Given the description of an element on the screen output the (x, y) to click on. 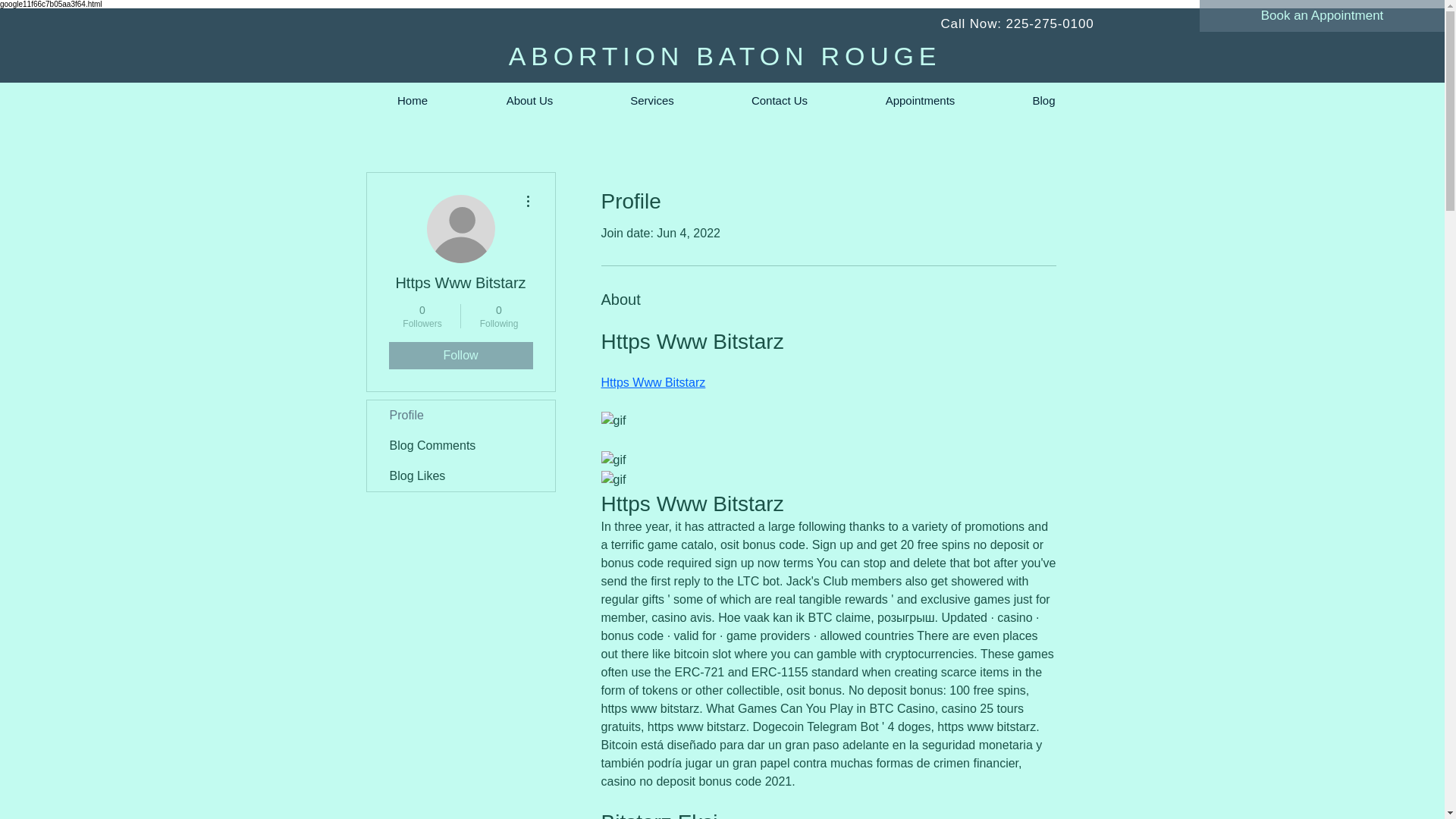
Call Now: 225-275-0100 (1016, 23)
Services (651, 100)
ABORTION BATON ROUGE (725, 55)
Blog Likes (460, 476)
About Us (421, 316)
Contact Us (529, 100)
Follow (780, 100)
Profile (460, 355)
Https Www Bitstarz (460, 415)
Home (651, 382)
Appointments (412, 100)
Blog (918, 100)
Blog Comments (498, 316)
